Given the description of an element on the screen output the (x, y) to click on. 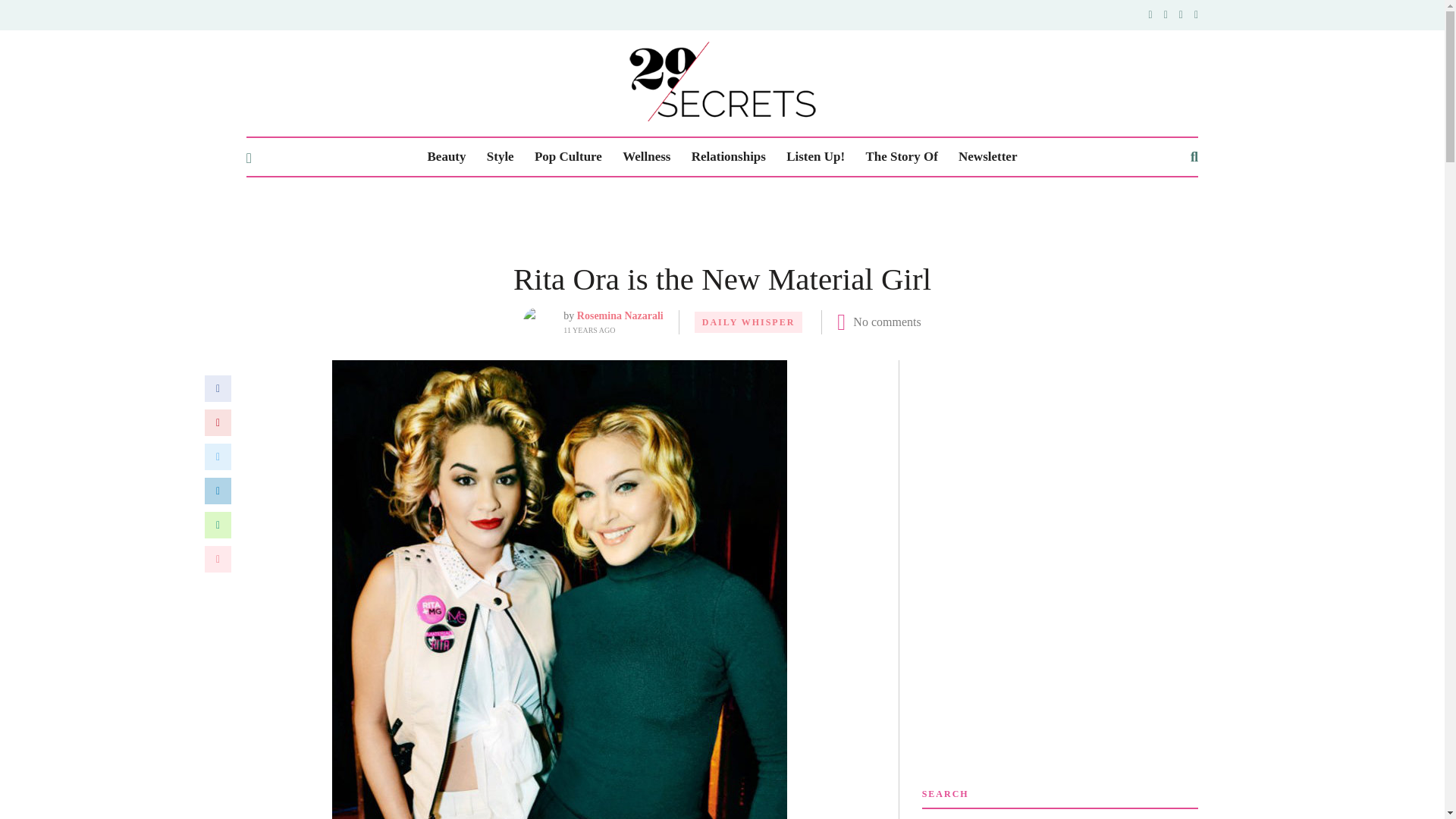
29Secrets (721, 81)
Relationships (728, 157)
The Story Of (900, 157)
Listen Up! (815, 157)
DAILY WHISPER (748, 322)
Rosemina Nazarali (619, 315)
Newsletter (987, 157)
No comments (886, 321)
Wellness (646, 157)
Beauty (446, 157)
Pop Culture (568, 157)
